Given the description of an element on the screen output the (x, y) to click on. 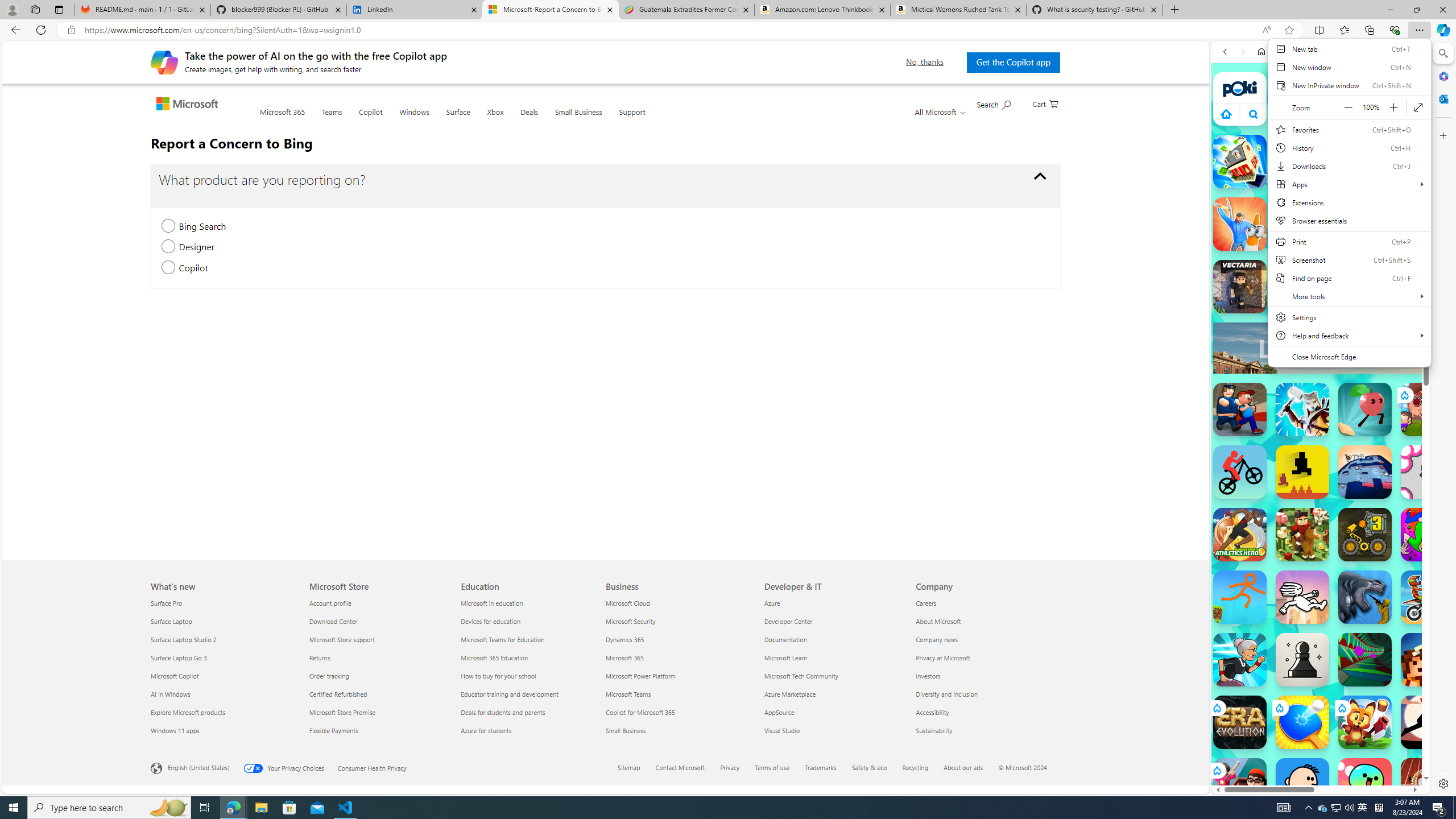
Microsoft Copilot What's new (175, 675)
Blumgi Slime Blumgi Slime (1364, 784)
Poor Eddie Poor Eddie (1302, 784)
No, thanks (924, 61)
SUBWAY SURFERS - Play Online for Free! | Poki (1315, 765)
___ (1227, 328)
Classic Chess (1302, 659)
Sustainability (984, 730)
Windows 11 apps (223, 730)
Devices for education Education (490, 620)
Microsoft Store support (377, 638)
Documentation (833, 638)
